Given the description of an element on the screen output the (x, y) to click on. 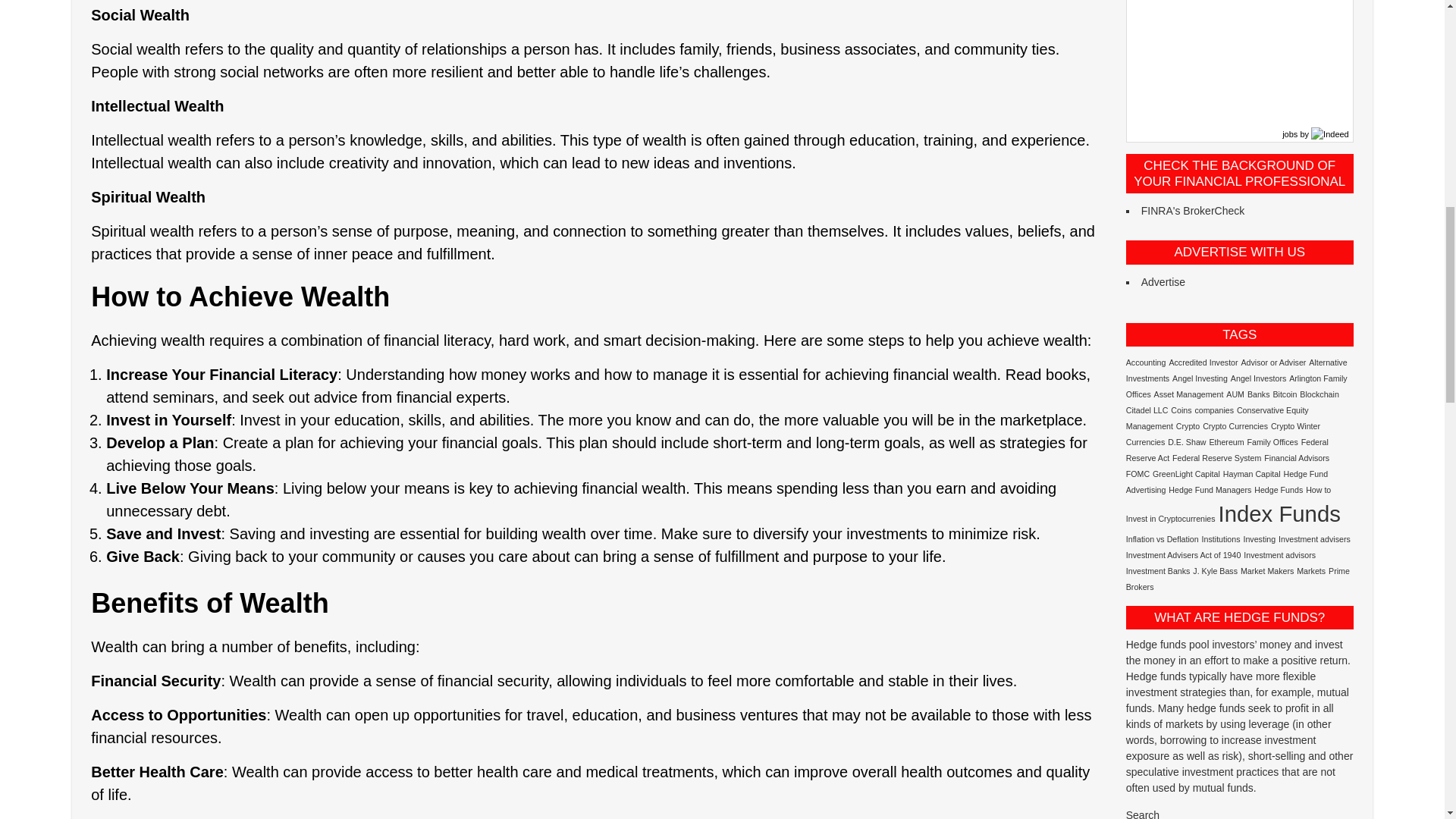
Coins (1180, 409)
Advisor or Adviser (1273, 361)
Advertise (1163, 282)
Citadel LLC (1147, 409)
AUM (1234, 393)
CLICK HERE  TO ADVERTISE WITH US (1163, 282)
Alternative Investments (1236, 370)
Arlington Family Offices (1236, 385)
Bitcoin (1284, 393)
FINRA's BrokerCheck (1192, 210)
